Given the description of an element on the screen output the (x, y) to click on. 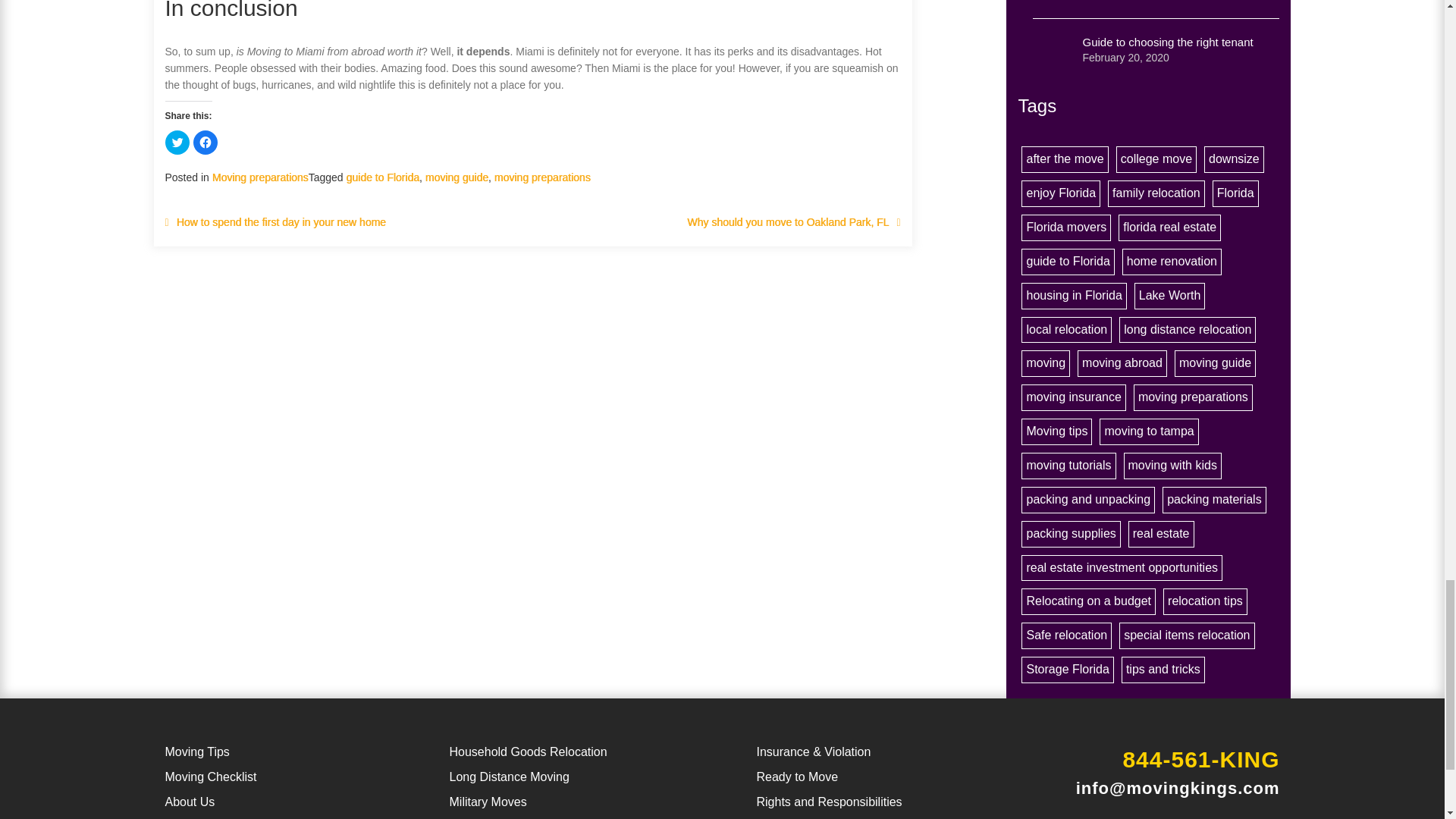
Moving preparations (260, 177)
moving preparations (543, 177)
How to spend the first day in your new home (280, 222)
guide to Florida (382, 177)
moving guide (456, 177)
